Given the description of an element on the screen output the (x, y) to click on. 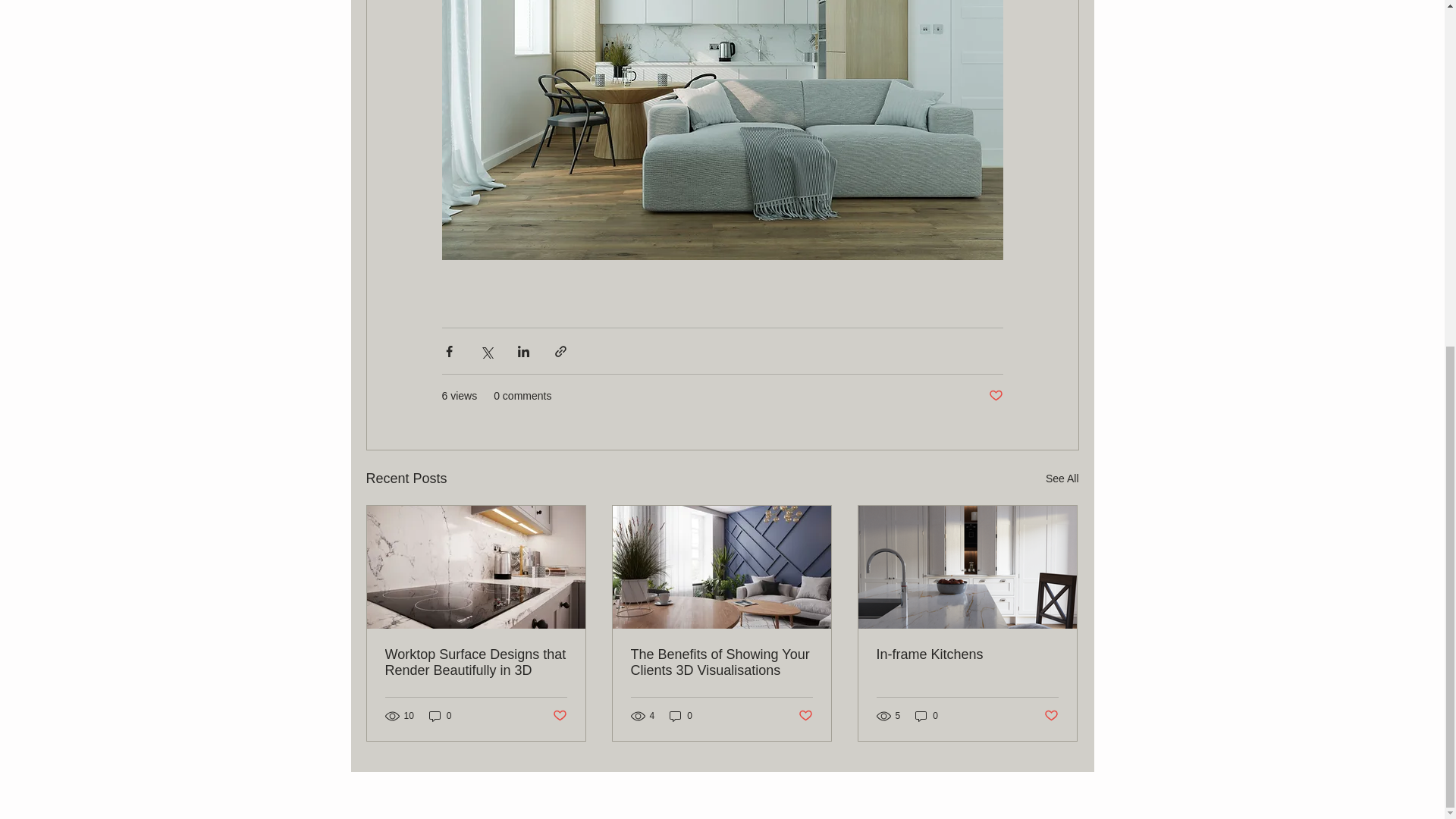
Worktop Surface Designs that Render Beautifully in 3D (476, 662)
0 (440, 716)
0 (926, 716)
Post not marked as liked (804, 715)
The Benefits of Showing Your Clients 3D Visualisations (721, 662)
0 (681, 716)
See All (1061, 478)
Post not marked as liked (995, 396)
Post not marked as liked (558, 715)
In-frame Kitchens (967, 654)
Post not marked as liked (1050, 715)
